Given the description of an element on the screen output the (x, y) to click on. 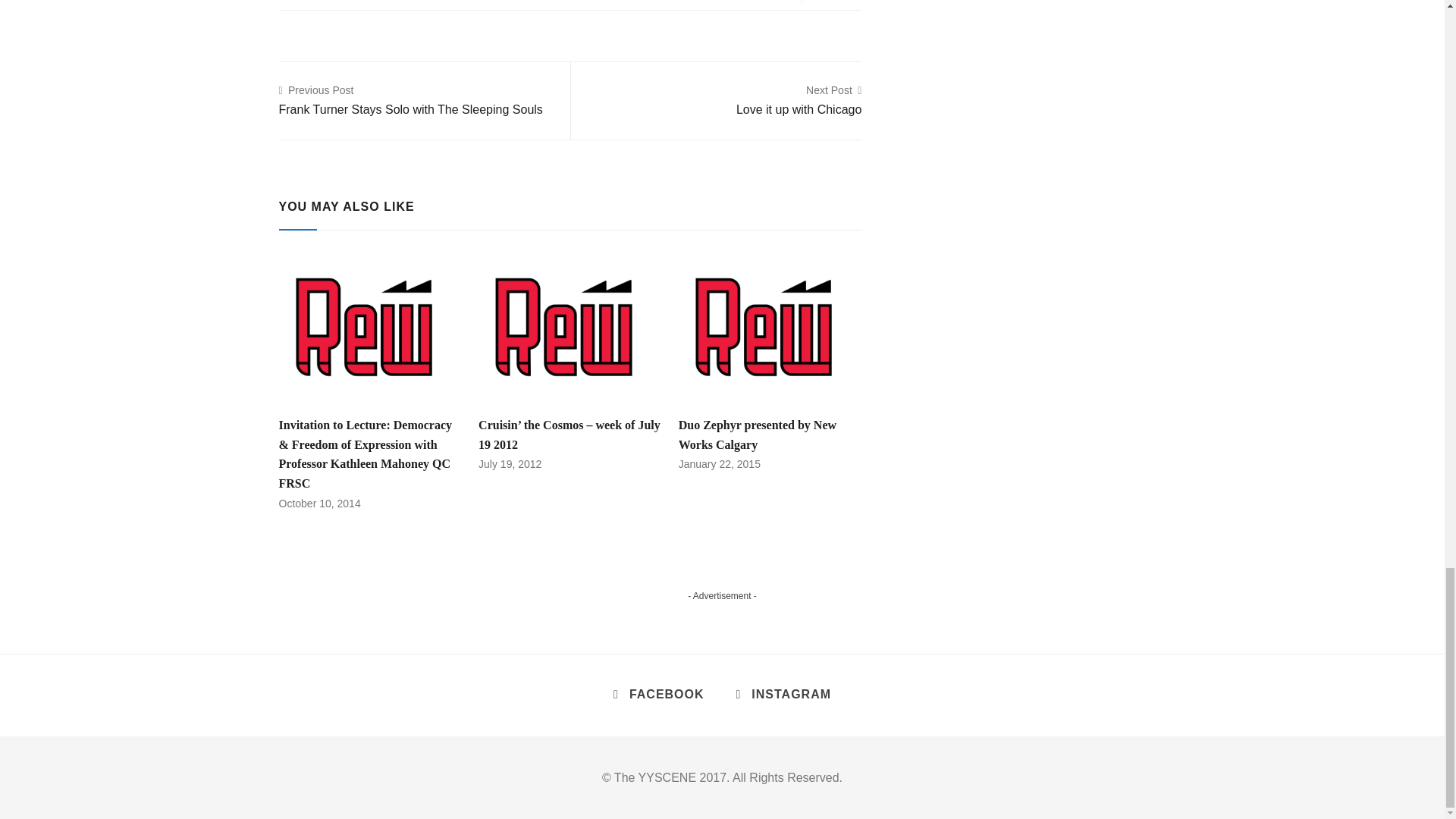
Duo Zephyr presented by New Works Calgary (756, 434)
Duo Zephyr presented by New Works Calgary (769, 326)
